Given the description of an element on the screen output the (x, y) to click on. 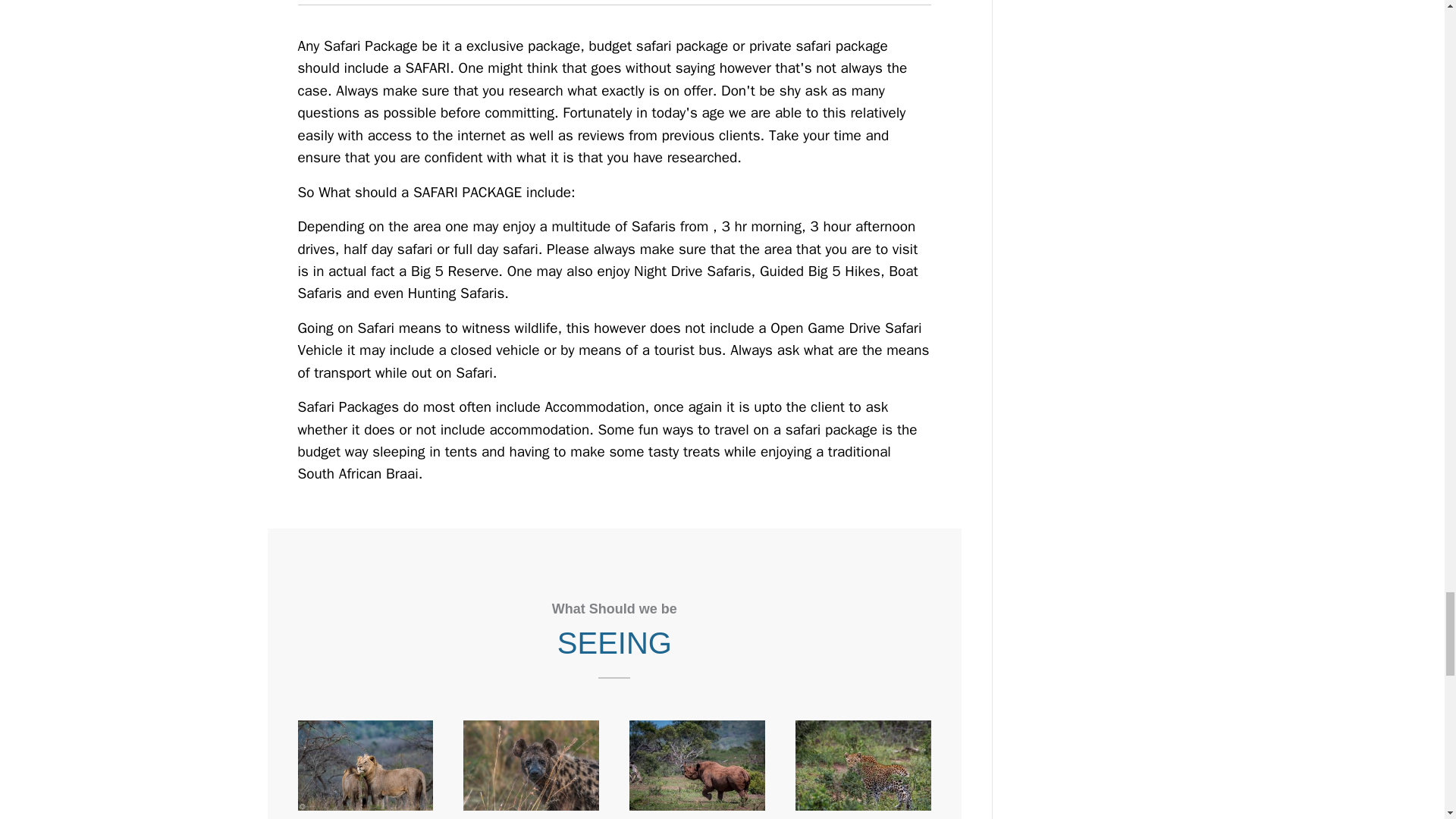
zululand game reserve hluhluwe-imfolozi park (364, 765)
Mkuze Game Reserve zululand game reserve (696, 765)
african big 5 leopard (862, 765)
wild dogs (530, 765)
